Given the description of an element on the screen output the (x, y) to click on. 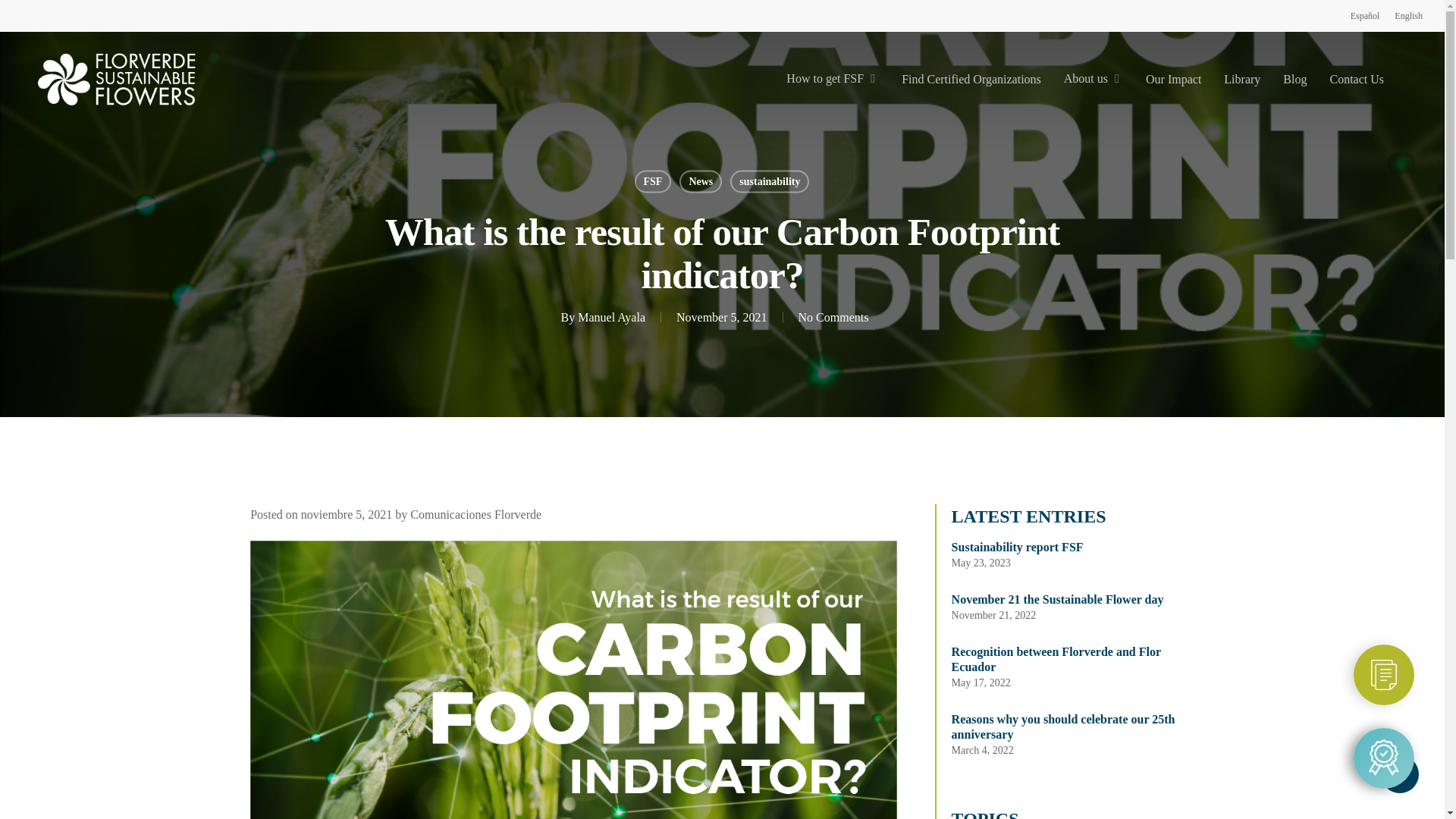
About us (1093, 78)
FSF (652, 180)
No Comments (833, 317)
Manuel Ayala (611, 317)
Find Certified Organizations (971, 79)
Library (1242, 79)
Our Impact (1173, 79)
Posts by Manuel Ayala (611, 317)
Contact Us (1356, 79)
Recognition between Florverde and Flor Ecuador (1072, 659)
Sustainability report FSF (1072, 547)
Reasons why you should celebrate our 25th anniversary (1072, 726)
News (700, 180)
English (1408, 15)
How to get FSF (832, 78)
